Given the description of an element on the screen output the (x, y) to click on. 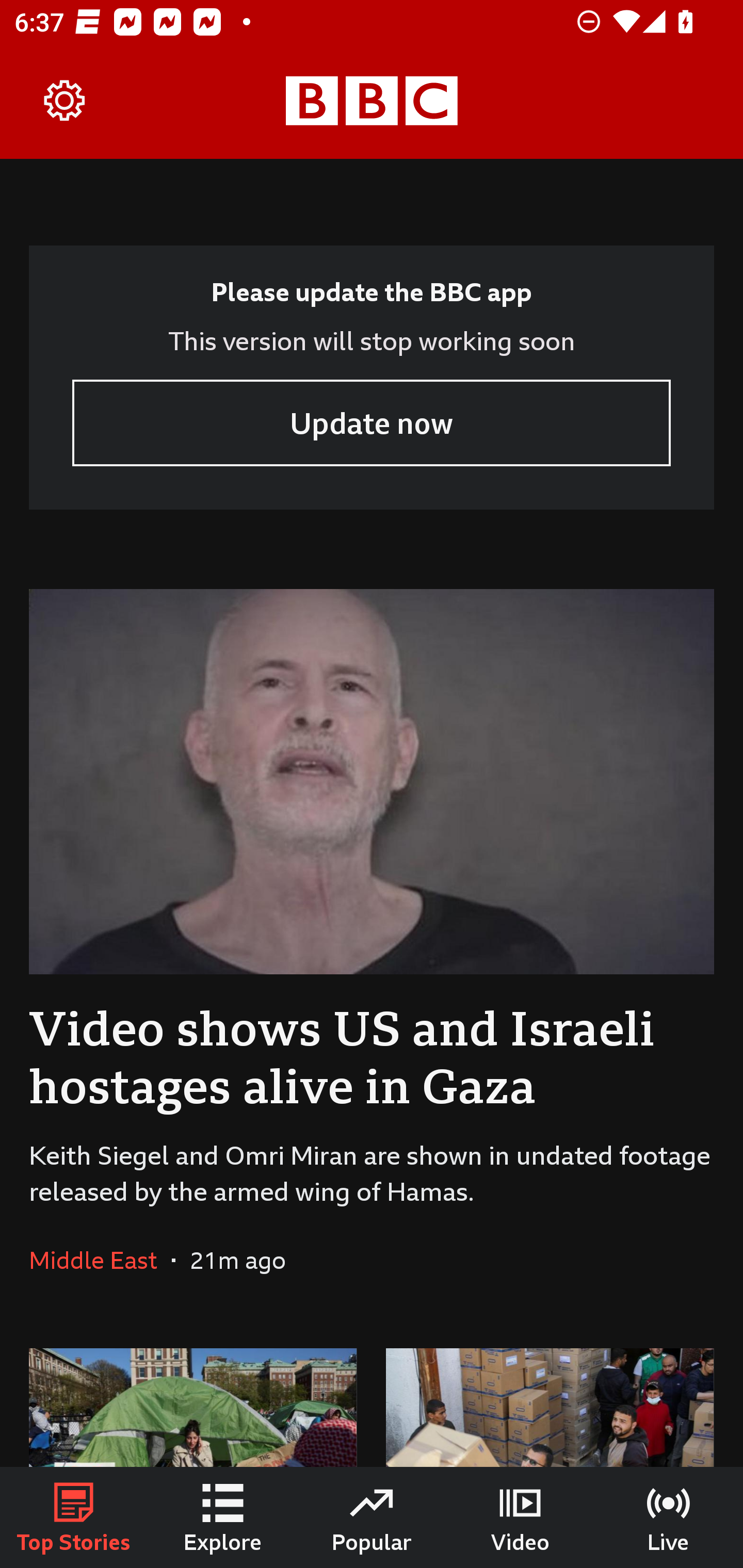
Settings (64, 100)
Update now (371, 422)
Middle East In the section Middle East (99, 1259)
Explore (222, 1517)
Popular (371, 1517)
Video (519, 1517)
Live (668, 1517)
